Given the description of an element on the screen output the (x, y) to click on. 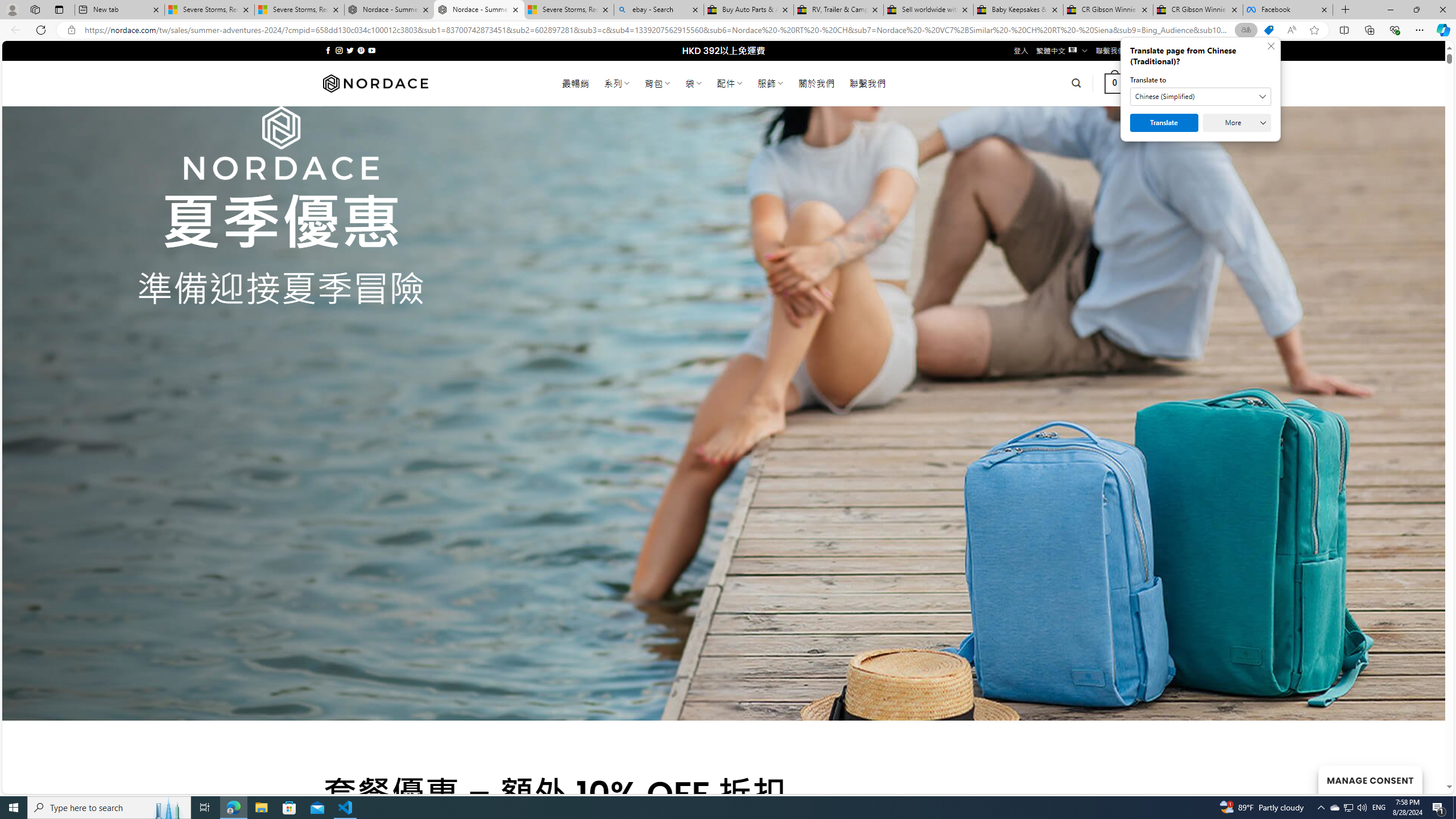
Follow on Instagram (338, 50)
RV, Trailer & Camper Steps & Ladders for sale | eBay (838, 9)
ebay - Search (658, 9)
Translate (1163, 122)
Follow on Facebook (327, 50)
Address and search bar (658, 29)
